Given the description of an element on the screen output the (x, y) to click on. 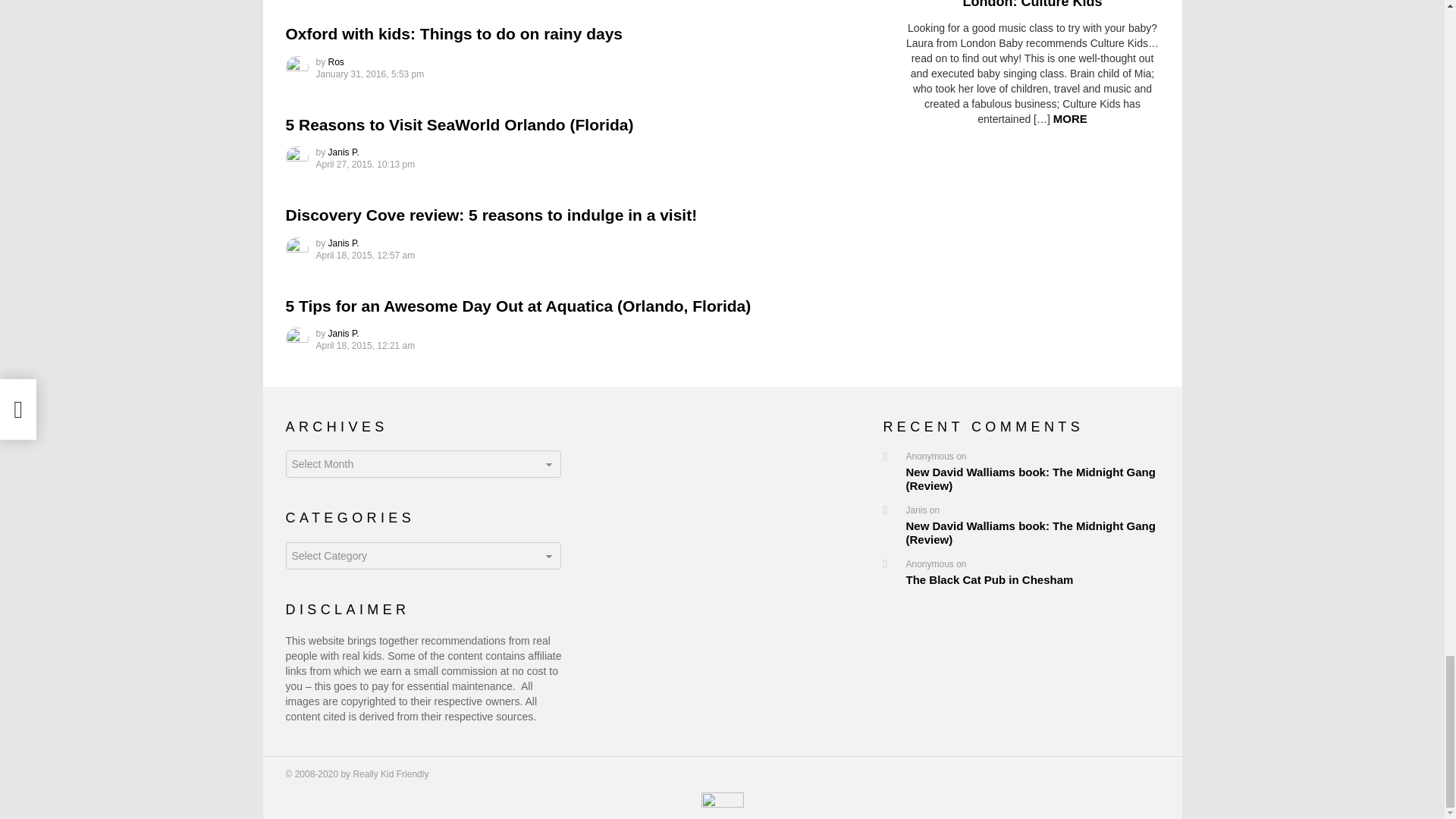
Posts by Janis P. (344, 152)
Posts by Janis P. (344, 333)
Posts by Janis P. (344, 243)
Posts by Ros (336, 61)
